Given the description of an element on the screen output the (x, y) to click on. 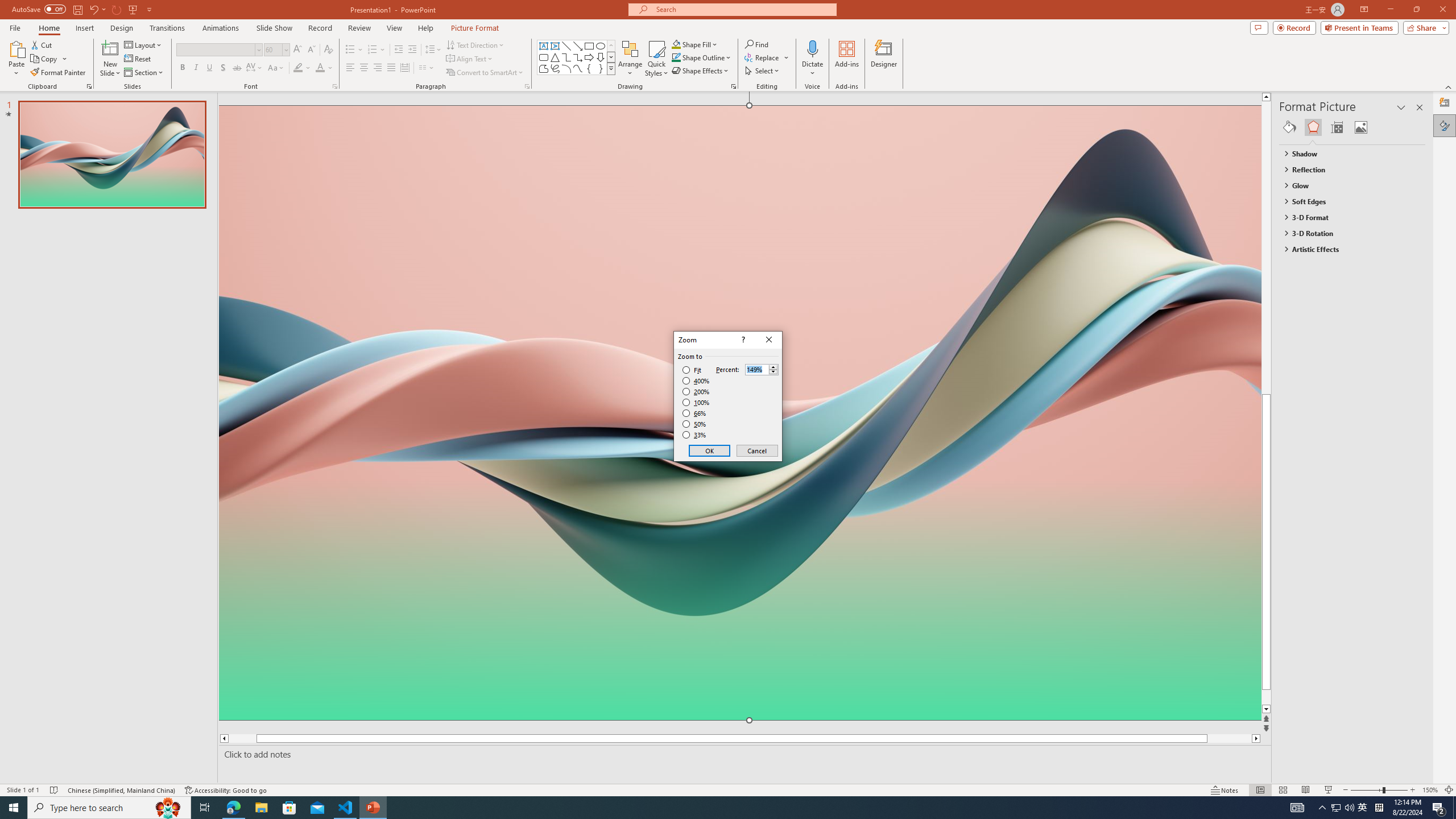
Close pane (1419, 107)
Microsoft Edge - 1 running window (233, 807)
Connector: Elbow Arrow (577, 57)
Line up (1287, 96)
Size & Properties (1336, 126)
Section (144, 72)
Clear Formatting (327, 49)
Slide Notes (742, 754)
Convert to SmartArt (485, 72)
Effects (1313, 126)
Format Picture (1444, 125)
Shape Fill (694, 44)
Designer (1444, 102)
